Given the description of an element on the screen output the (x, y) to click on. 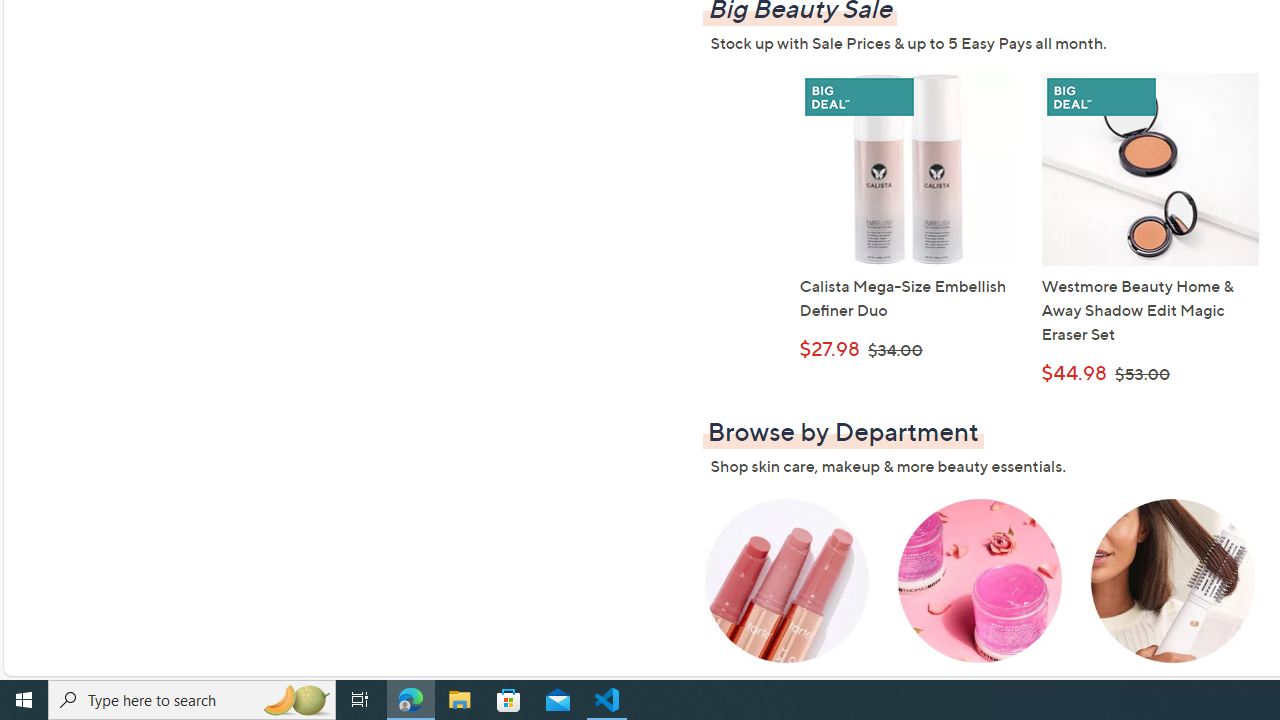
 Calista Mega-Size Embellish Definer Duo - A376050 (907, 169)
Hair-Styling Tools (1173, 596)
Makeup (786, 596)
Skin Care (979, 596)
